Given the description of an element on the screen output the (x, y) to click on. 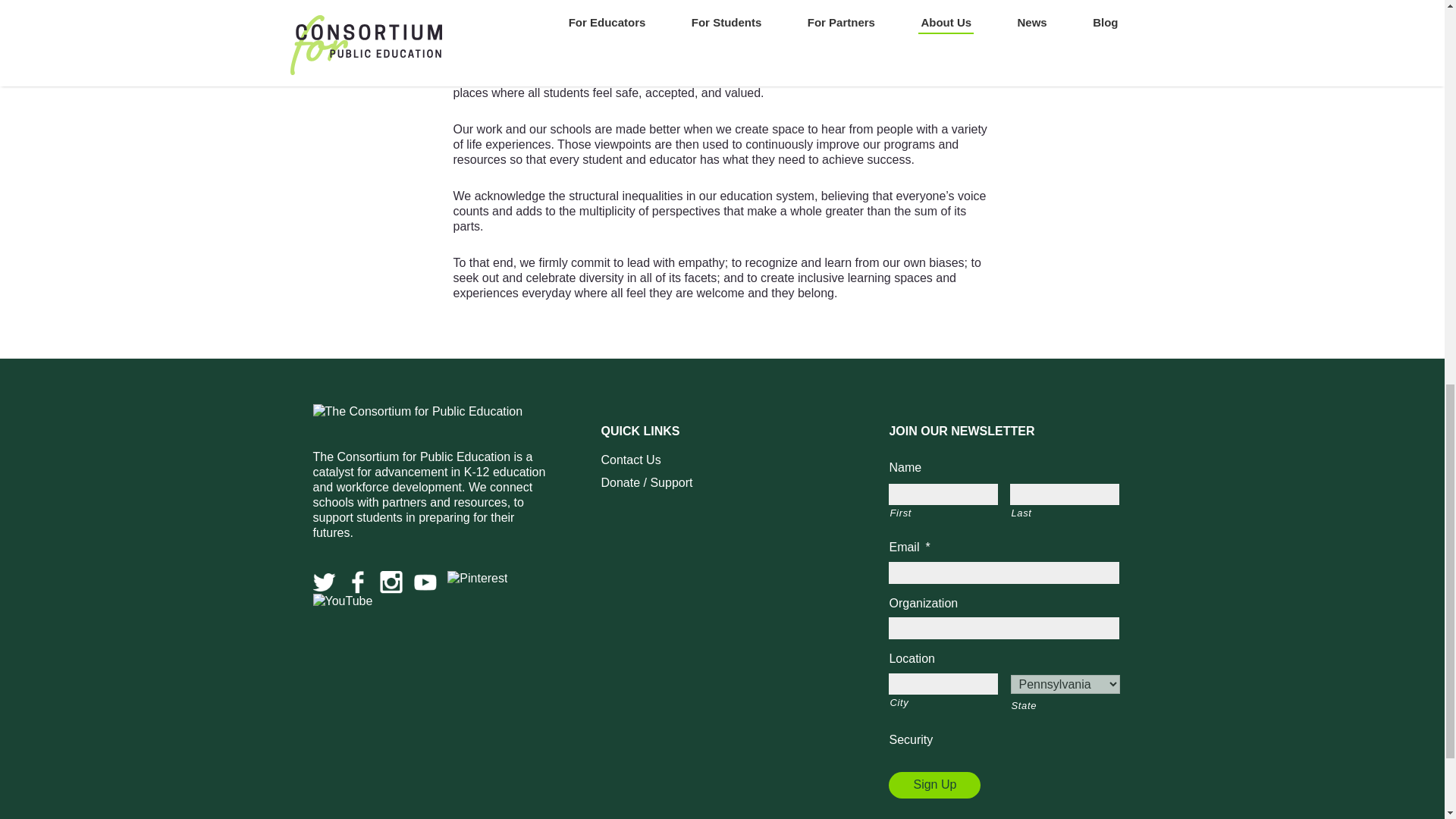
Sign Up (933, 784)
Sign Up (933, 784)
LinkedIn (342, 600)
Instagram (391, 577)
Contact Us (630, 459)
Pinterest (476, 577)
Facebook (357, 577)
Twitter (323, 577)
YouTube (424, 577)
